Given the description of an element on the screen output the (x, y) to click on. 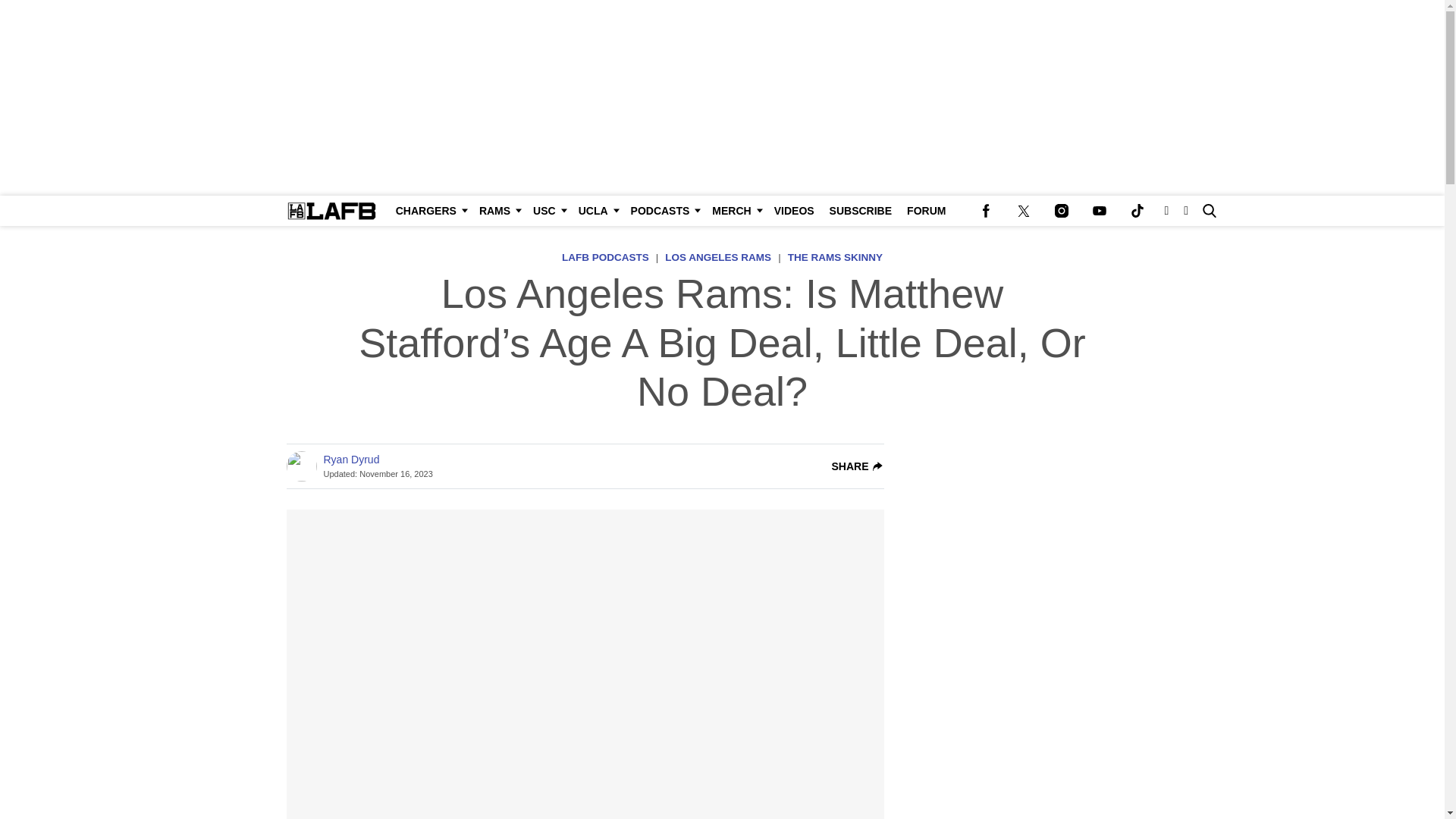
Subscribe to our TikTok channel (1137, 210)
Follow us on Facebook (985, 210)
Follow us on Instagram (1061, 210)
CHARGERS (429, 210)
Posts by Ryan Dyrud (350, 459)
UCLA (596, 210)
Follow us on Twitter (1023, 210)
USC (547, 210)
PODCASTS (663, 210)
Subscribe to our YouTube channel (1099, 210)
